Given the description of an element on the screen output the (x, y) to click on. 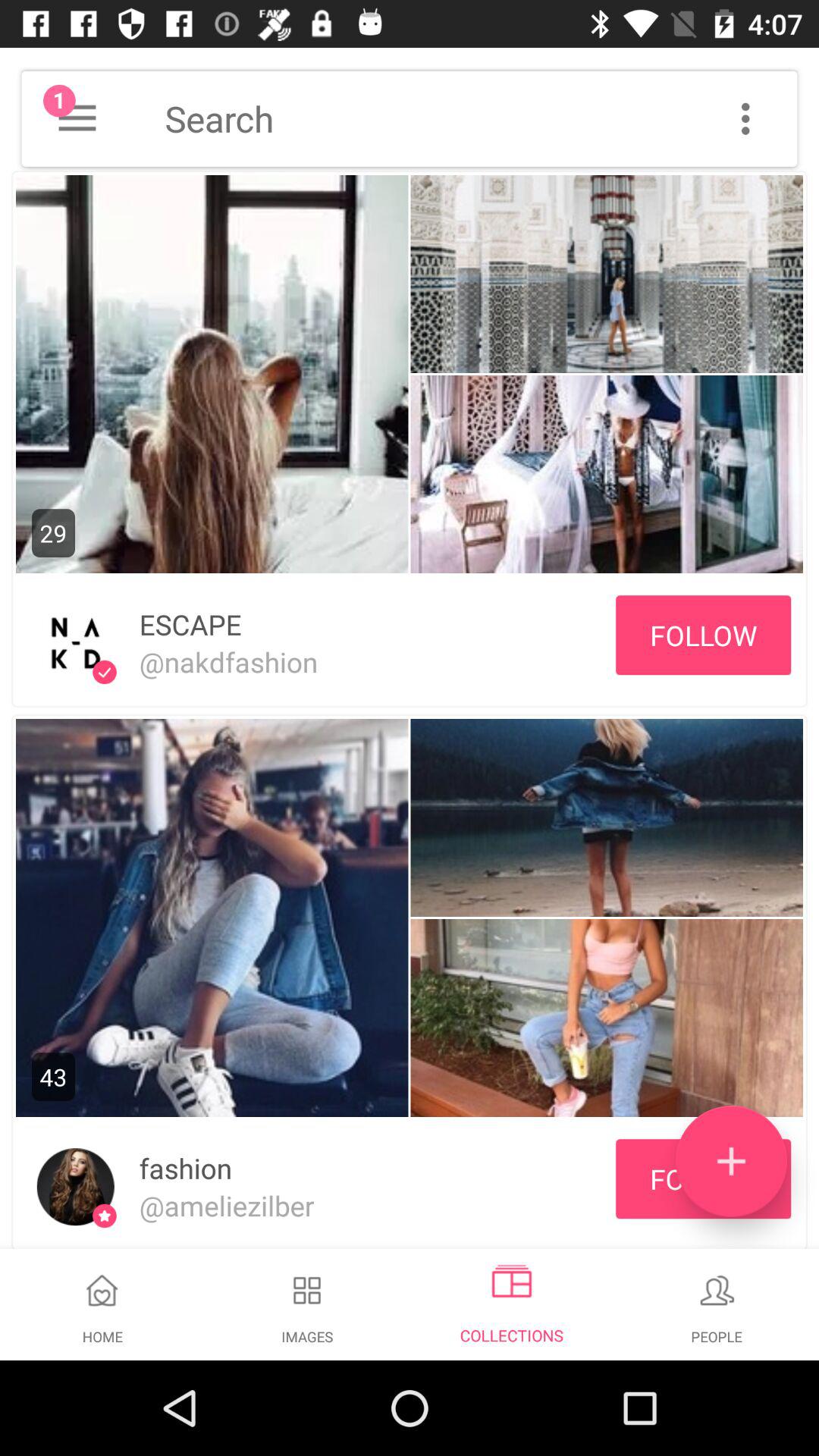
search (480, 118)
